Given the description of an element on the screen output the (x, y) to click on. 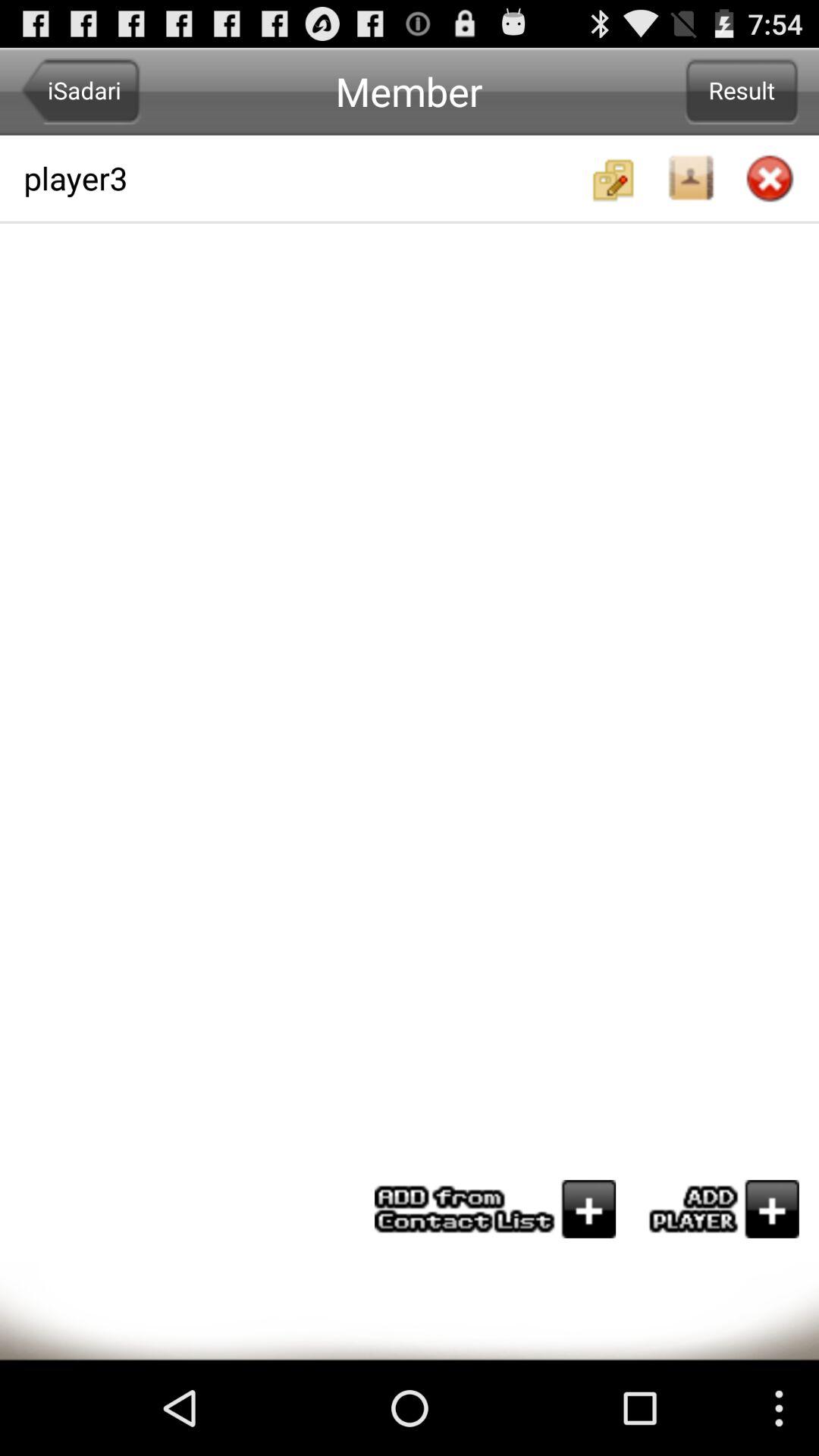
choose the icon above player3 (80, 91)
